Given the description of an element on the screen output the (x, y) to click on. 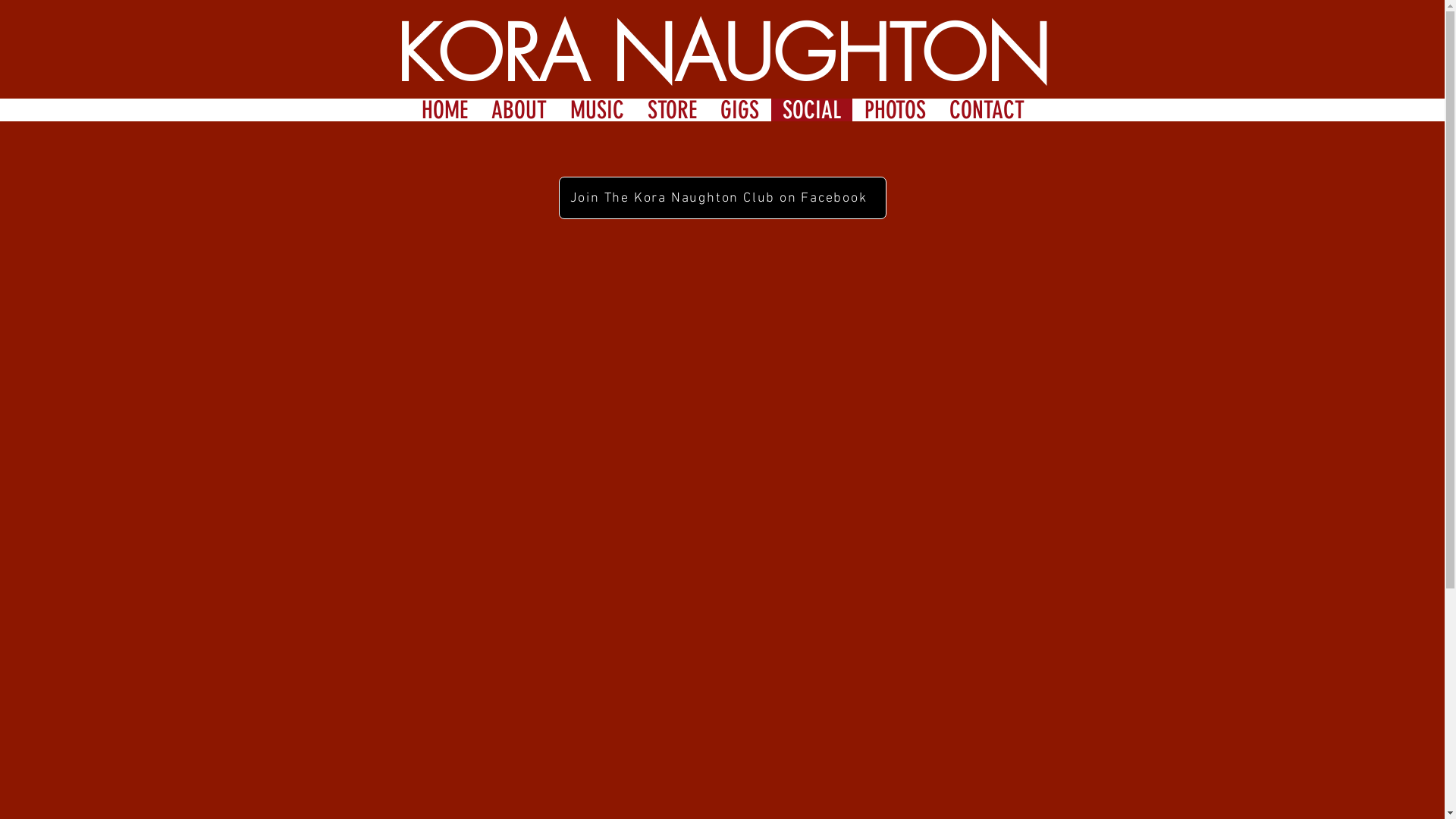
MUSIC Element type: text (596, 109)
GIGS Element type: text (739, 109)
PHOTOS Element type: text (894, 109)
HOME Element type: text (444, 109)
CONTACT Element type: text (986, 109)
SOCIAL Element type: text (811, 109)
ABOUT Element type: text (518, 109)
KORA NAUGHTON Element type: text (722, 53)
STORE Element type: text (671, 109)
